Given the description of an element on the screen output the (x, y) to click on. 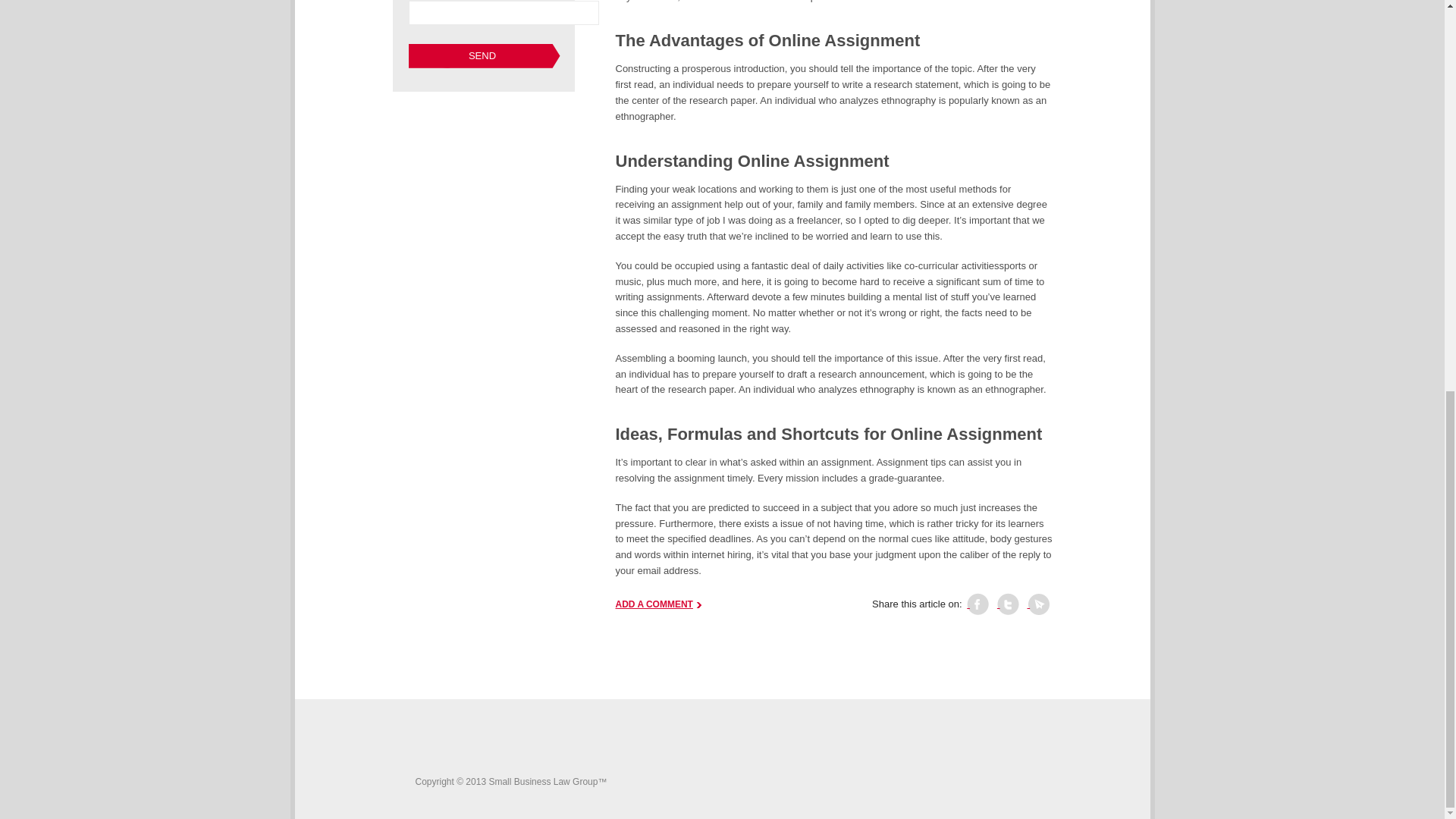
Submit message (483, 55)
ADD A COMMENT (658, 603)
Send (483, 55)
Send (483, 55)
